Given the description of an element on the screen output the (x, y) to click on. 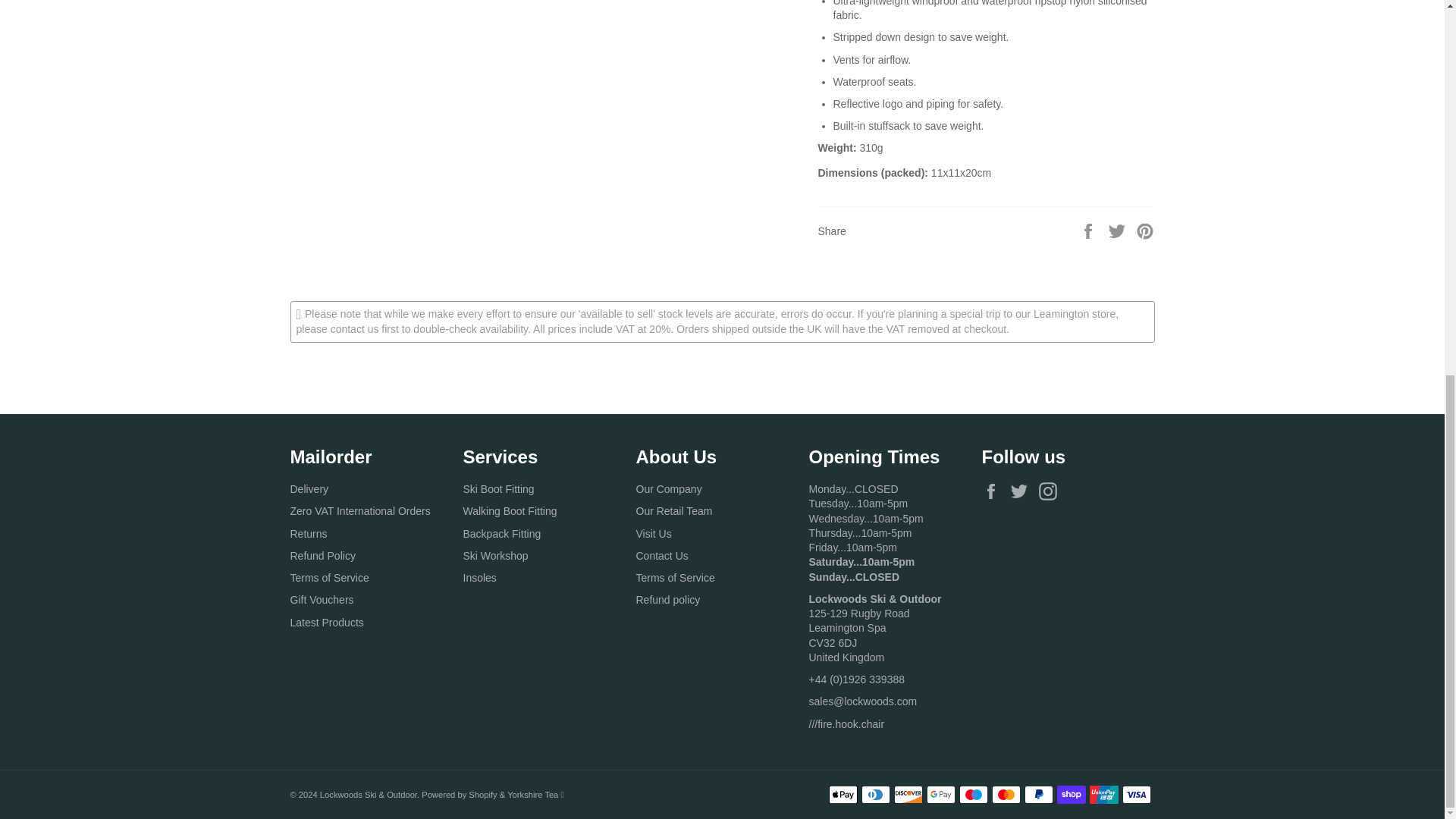
Share on Facebook (1089, 230)
Visit Us (865, 533)
Pin on Pinterest (1144, 230)
What3words location (845, 724)
Tweet on Twitter (1118, 230)
